Given the description of an element on the screen output the (x, y) to click on. 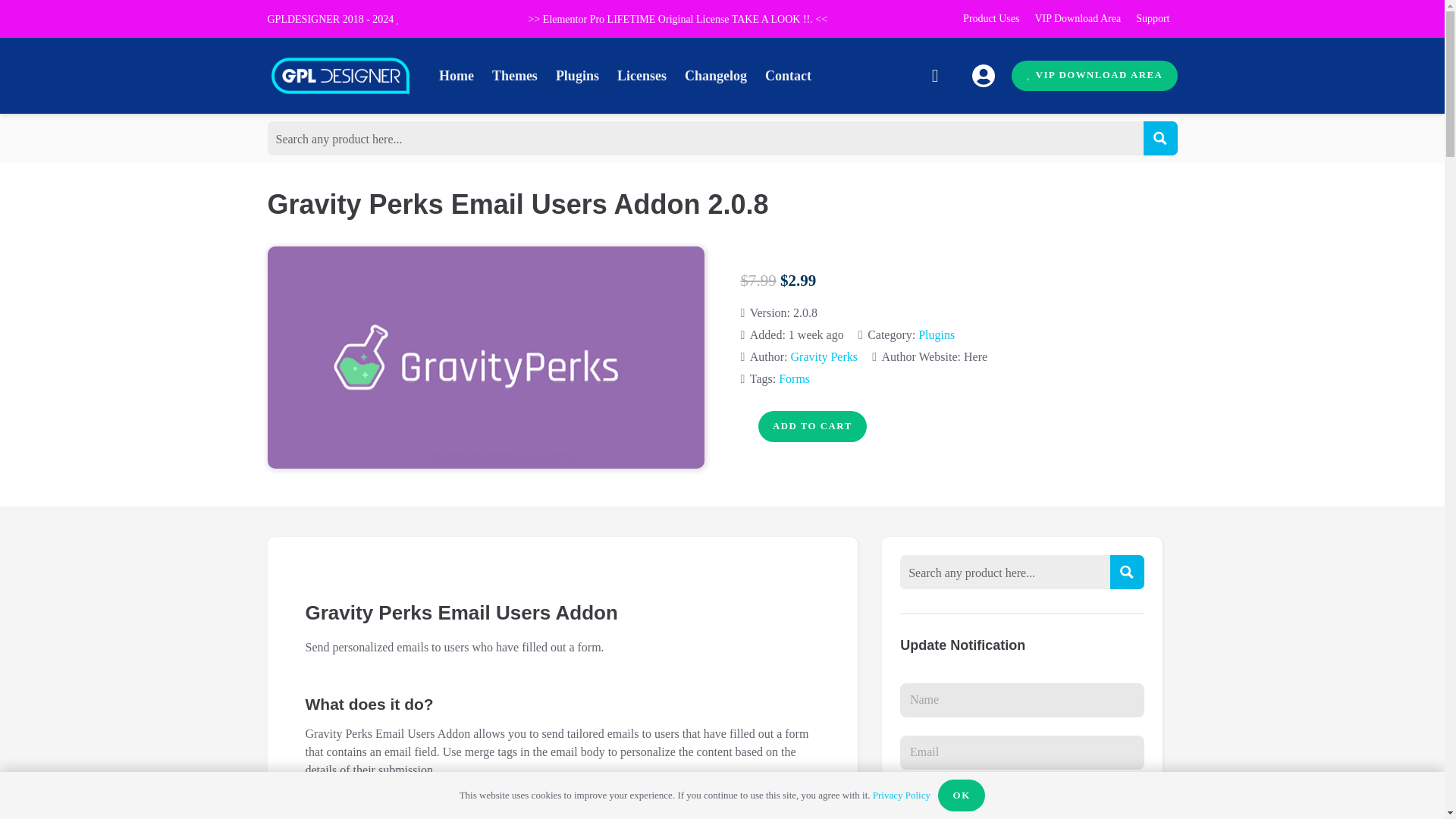
Product Uses (990, 18)
10 July 2024 at 15:36:10 -03:00 (791, 334)
ADD TO CART (812, 426)
Changelog (715, 75)
Forms (793, 378)
Here (975, 356)
VIP DOWNLOAD AREA (1093, 75)
Gravity Perks (823, 356)
Plugins (936, 334)
VIP Download Area (1077, 18)
Elementor Pro LIFETIME Original License TAKE A LOOK !!. (677, 19)
Support (1152, 18)
Licenses (641, 75)
